Given the description of an element on the screen output the (x, y) to click on. 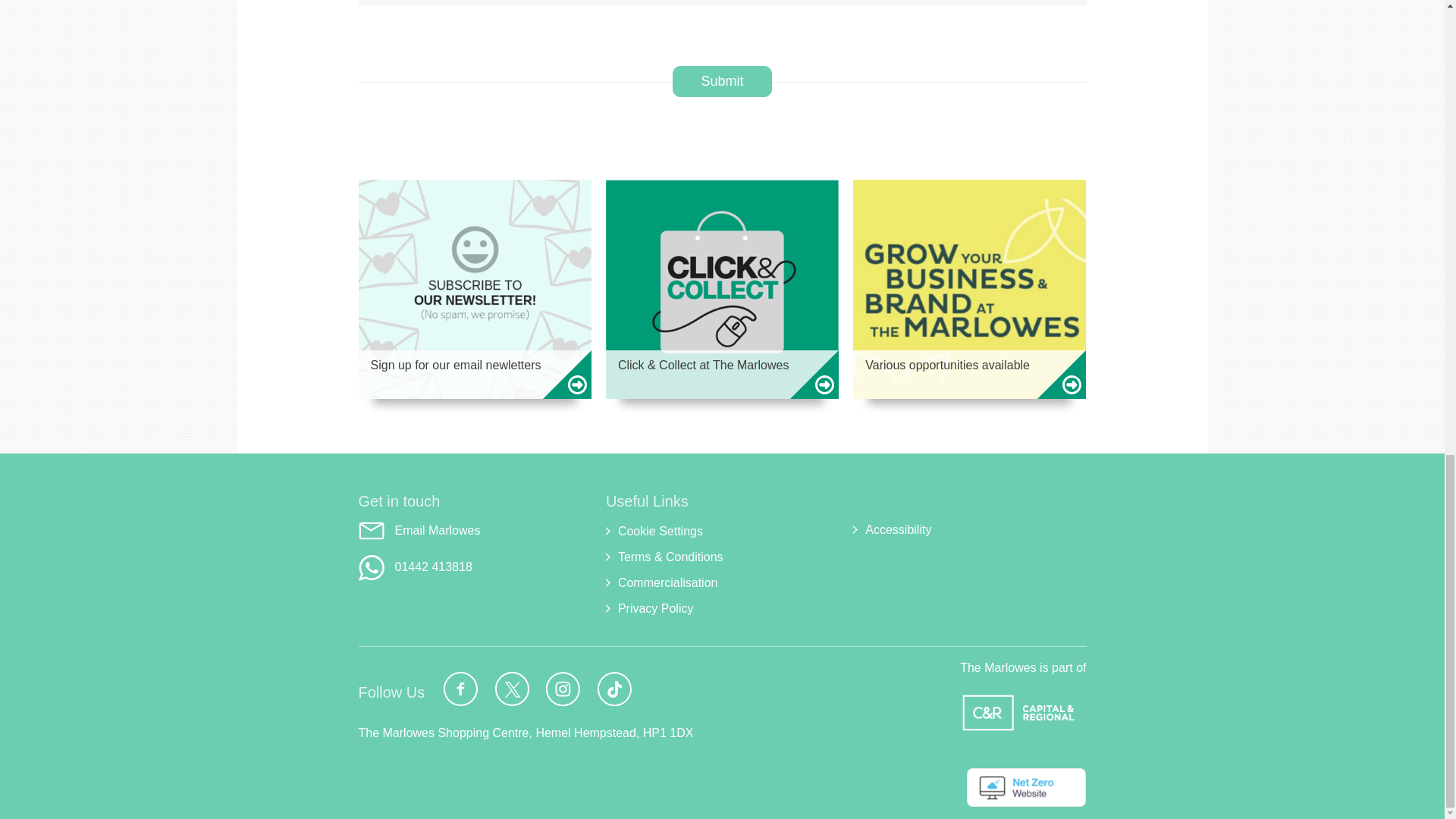
Email Marlowes (474, 530)
Telephone Marlowes (474, 567)
Visit The Marlowes on Facebook (463, 688)
Accessibility (969, 529)
Privacy Policy (721, 608)
Visit The Marlowes on Twitter (515, 688)
Commercialisation (721, 583)
Visit The Marlowes on TikTok (617, 688)
Visit The Marlowes on Instagram (565, 688)
